Given the description of an element on the screen output the (x, y) to click on. 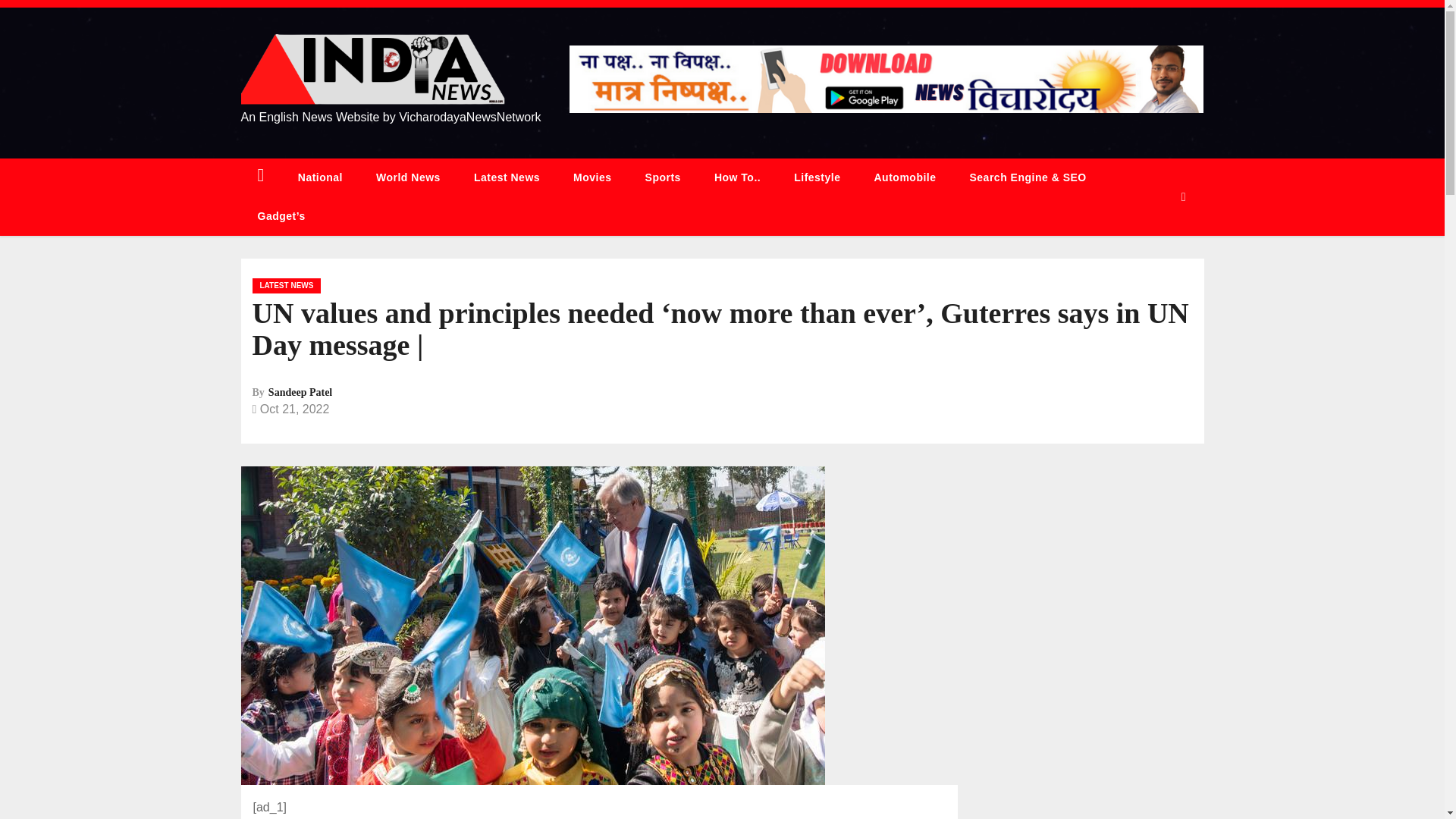
National (320, 177)
Latest News (506, 177)
Lifestyle (817, 177)
Sports (662, 177)
Sports (662, 177)
National (320, 177)
How To.. (737, 177)
Automobile (904, 177)
Movies (591, 177)
Home (261, 177)
